Given the description of an element on the screen output the (x, y) to click on. 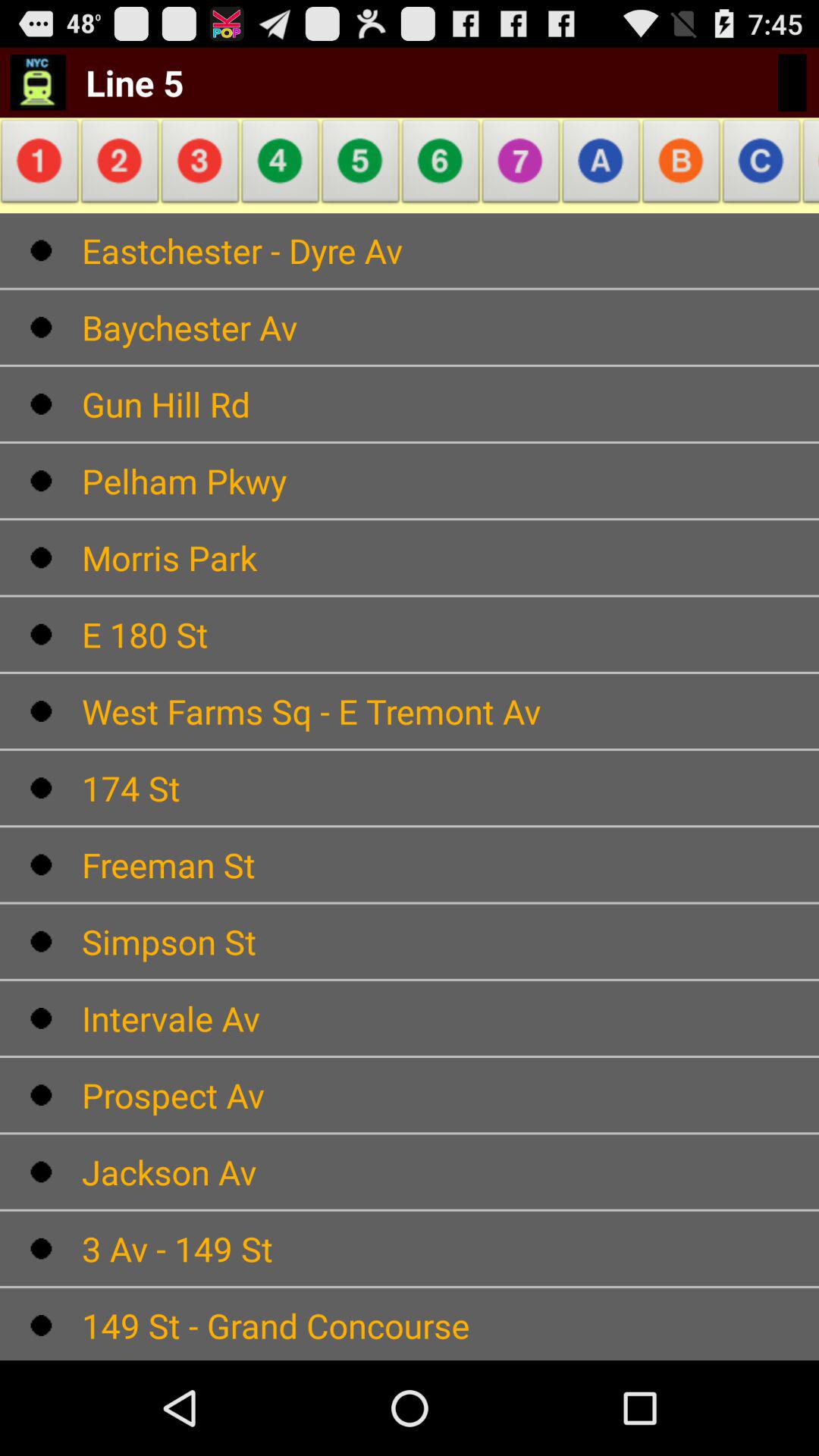
turn on item above the eastchester - dyre av item (120, 165)
